Given the description of an element on the screen output the (x, y) to click on. 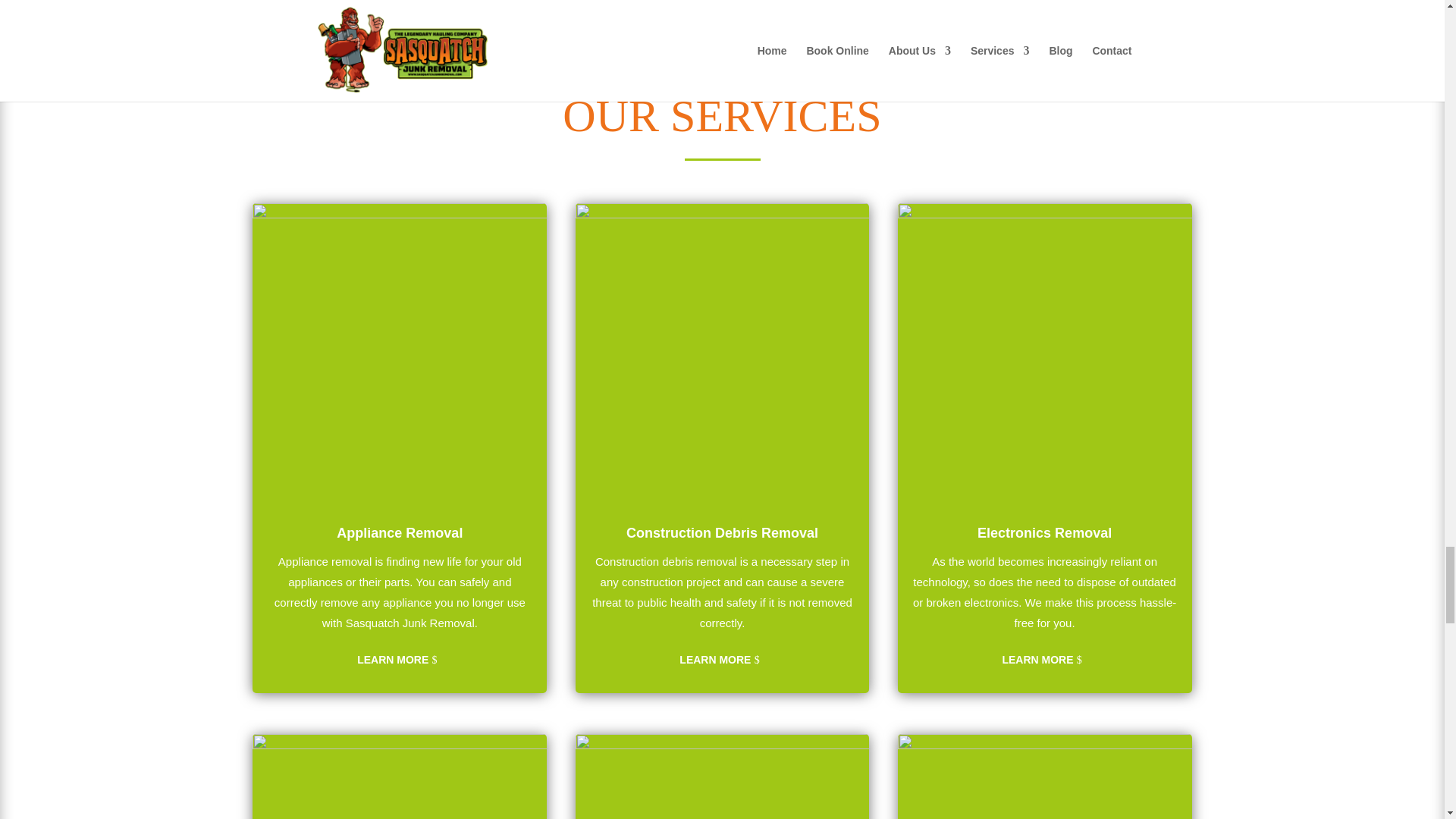
LEARN MORE (722, 660)
LEARN MORE (1044, 660)
LEARN MORE (399, 660)
appliance removal professionals (399, 350)
